Given the description of an element on the screen output the (x, y) to click on. 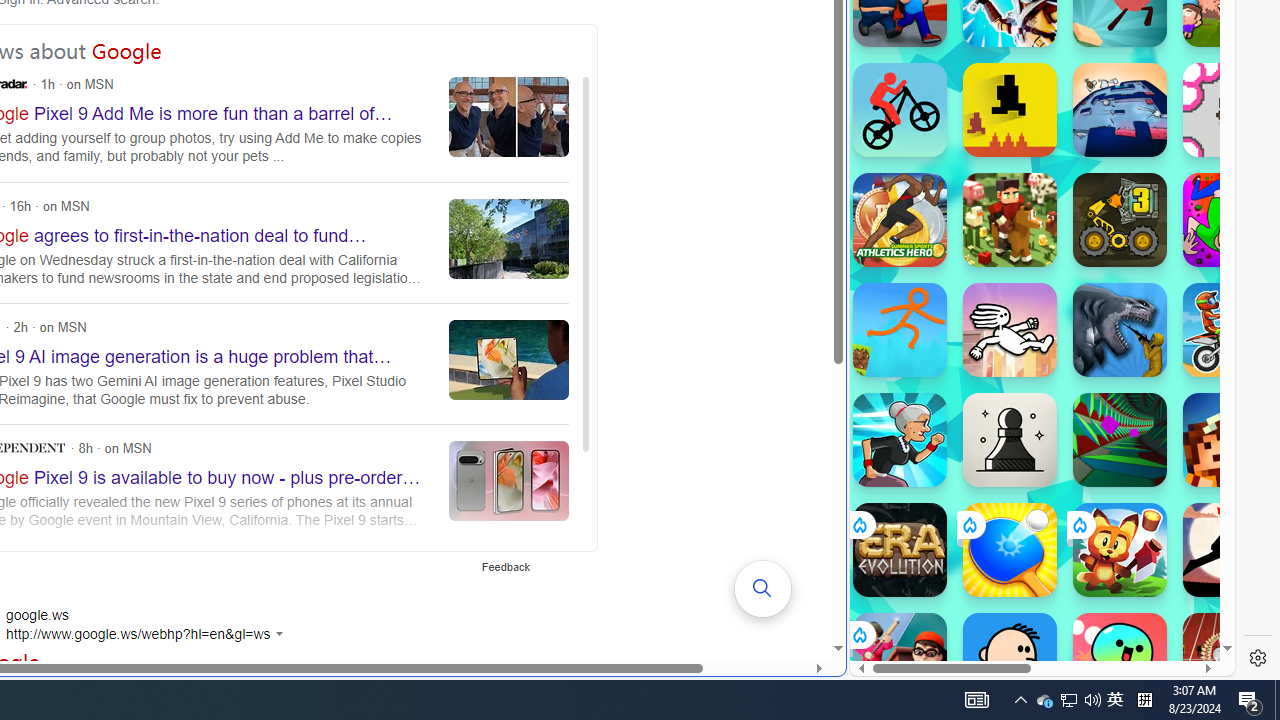
Blumgi Slime (1119, 659)
Lurkers.io Lurkers.io (1229, 439)
Ping Pong Go! (1009, 549)
JollyWorld JollyWorld (1229, 219)
Angry Gran Run Angry Gran Run (899, 439)
Blumgi Slime Blumgi Slime (1119, 659)
JollyWorld (1229, 219)
Apple Knight: Farmers Market (1009, 219)
Poor Eddie Poor Eddie (1009, 659)
The Speed Ninja The Speed Ninja (1229, 549)
Poor Eddie (1009, 659)
Hills of Steel (943, 300)
Apple Knight: Farmers Market Apple Knight: Farmers Market (1009, 219)
